Given the description of an element on the screen output the (x, y) to click on. 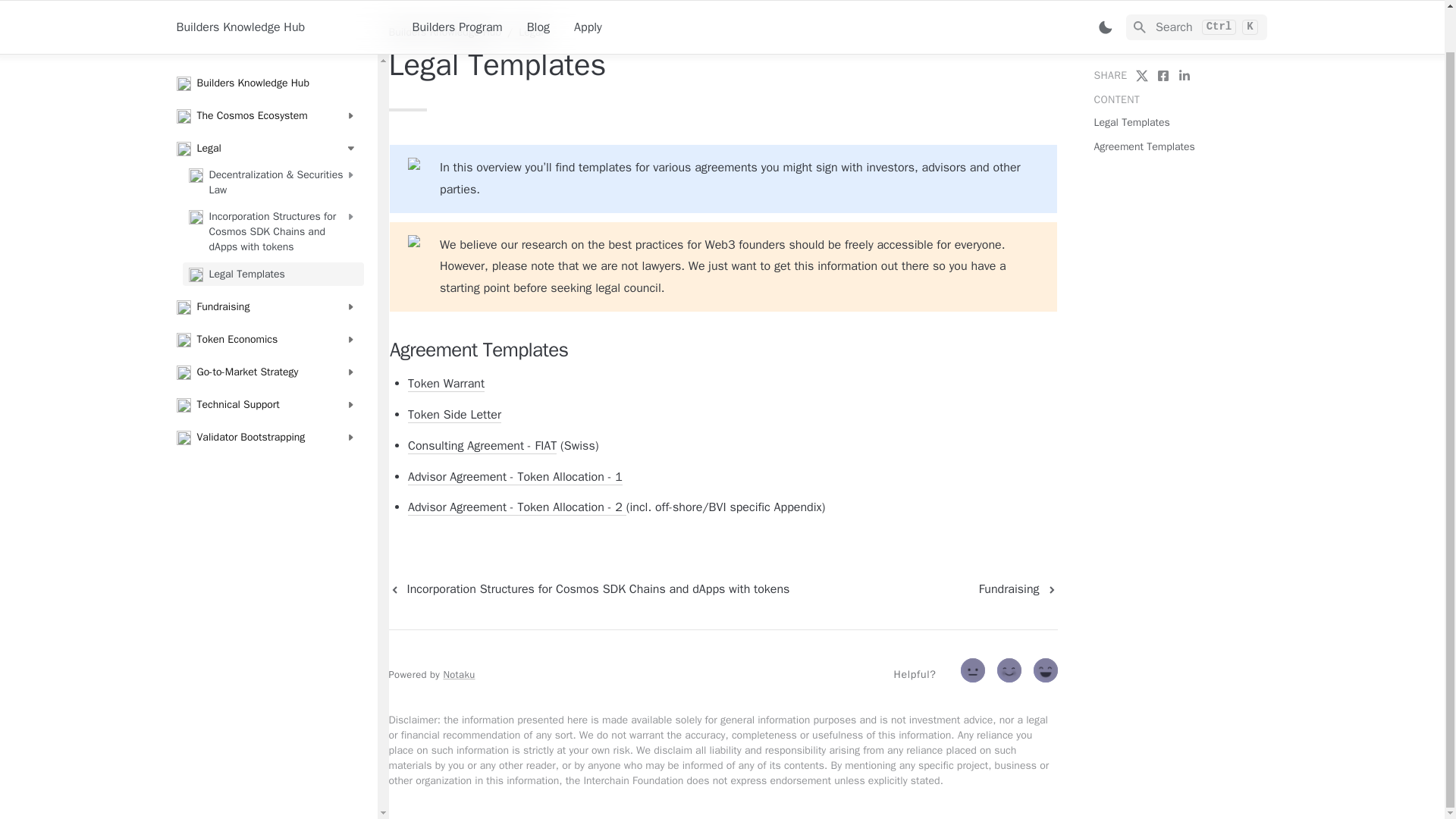
Consulting Agreement - FIAT (481, 446)
Fundraising (266, 261)
Notaku (458, 674)
Legal (266, 103)
Technical Support (266, 360)
Go-to-Market Strategy (266, 327)
Token Side Letter (453, 415)
Builders Knowledge Hub (444, 32)
Validator Bootstrapping (266, 392)
2 (1047, 673)
Advisor Agreement - Token Allocation - 1 (515, 477)
Legal (530, 32)
Token Economics (266, 294)
